Given the description of an element on the screen output the (x, y) to click on. 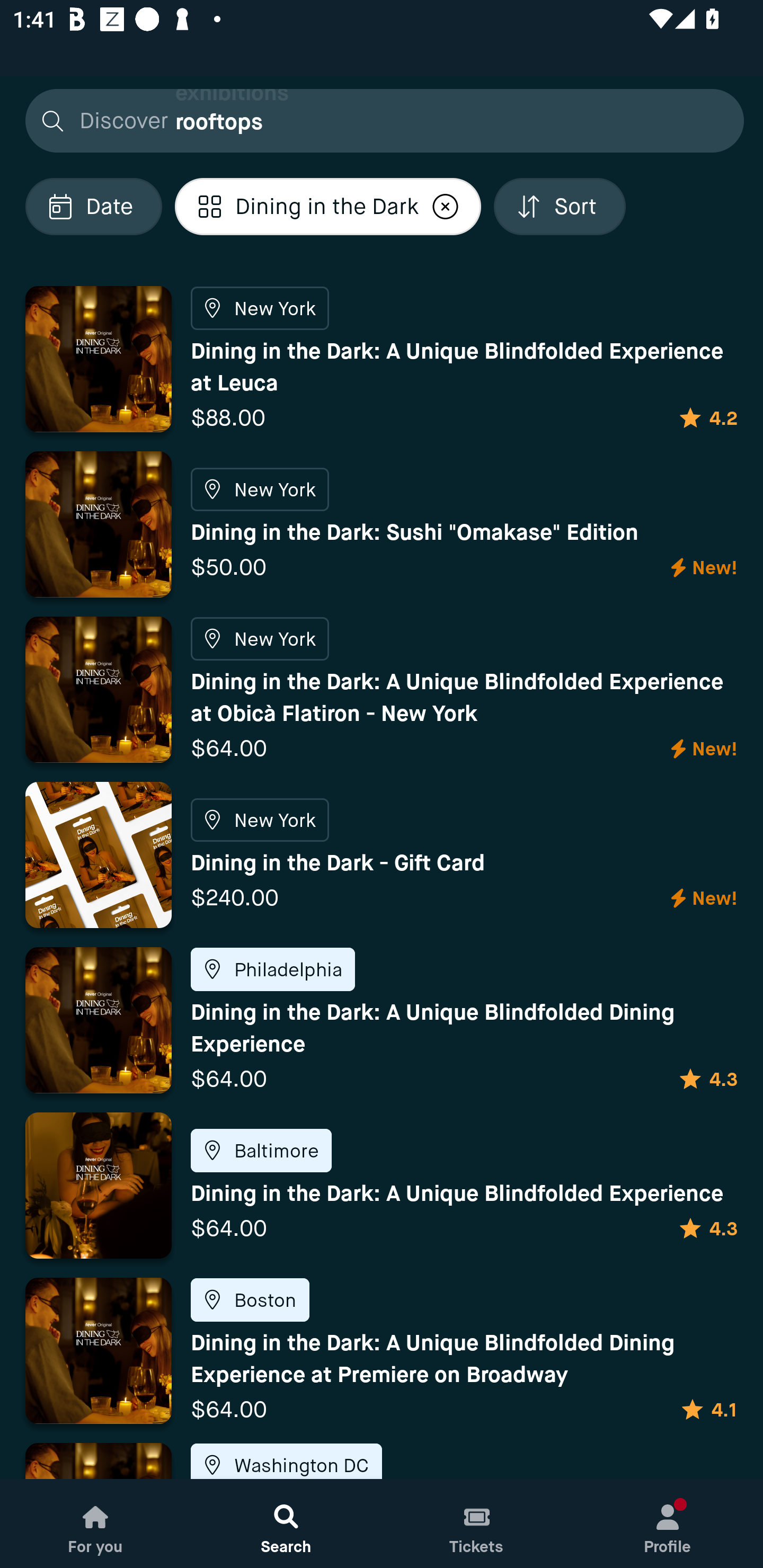
Discover exhibitions (379, 120)
Localized description Date (93, 205)
Localized description (445, 205)
Localized description Sort (559, 205)
UpcomingEventImage Washington DC (381, 1460)
For you (95, 1523)
Tickets (476, 1523)
Profile, New notification Profile (667, 1523)
